Given the description of an element on the screen output the (x, y) to click on. 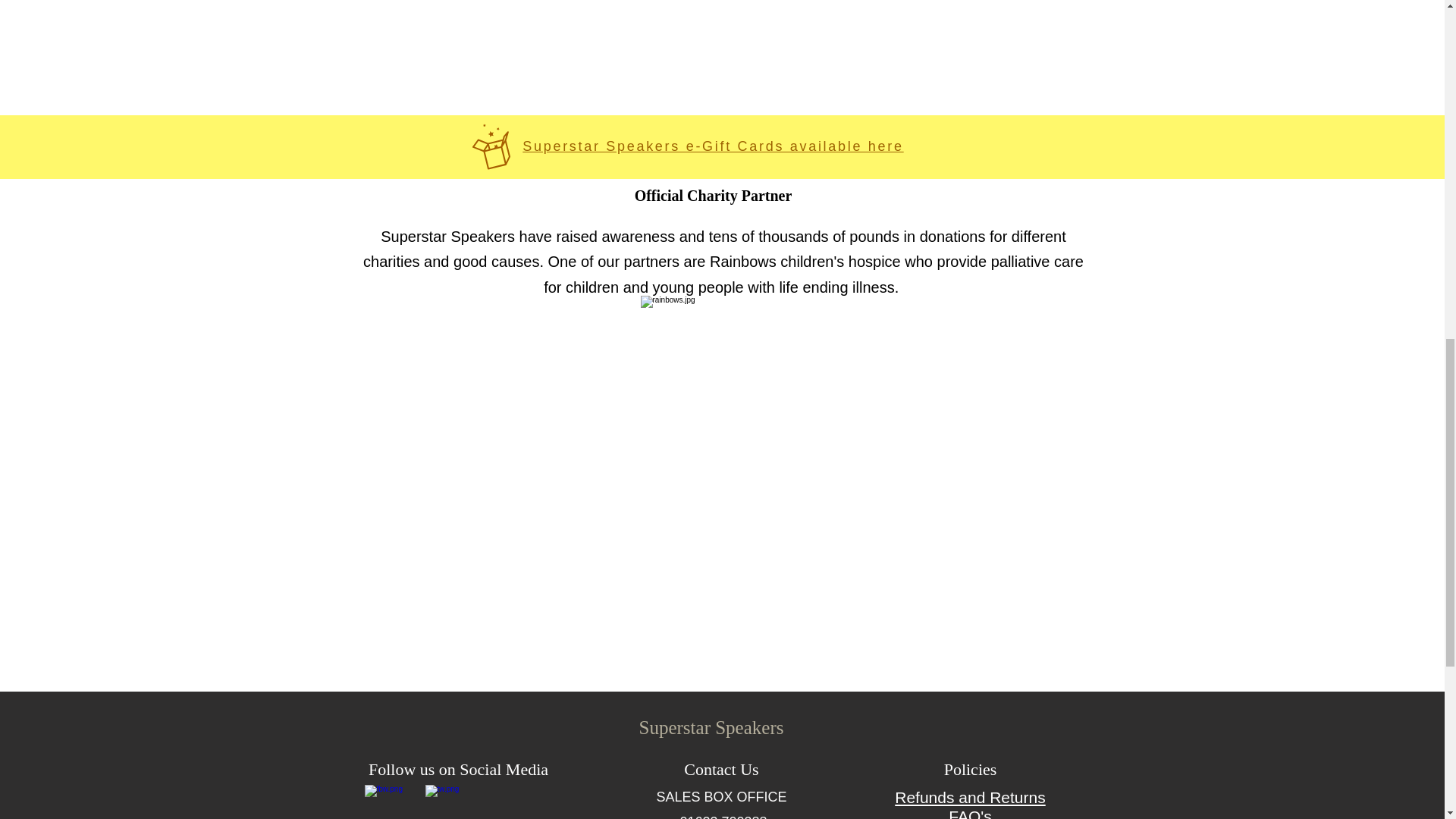
Superstar Speakers e-Gift Cards available here (712, 145)
Refunds and Returns (970, 796)
FAQ's (970, 813)
01623 700388 (723, 816)
Superstar Speakers (711, 727)
